Given the description of an element on the screen output the (x, y) to click on. 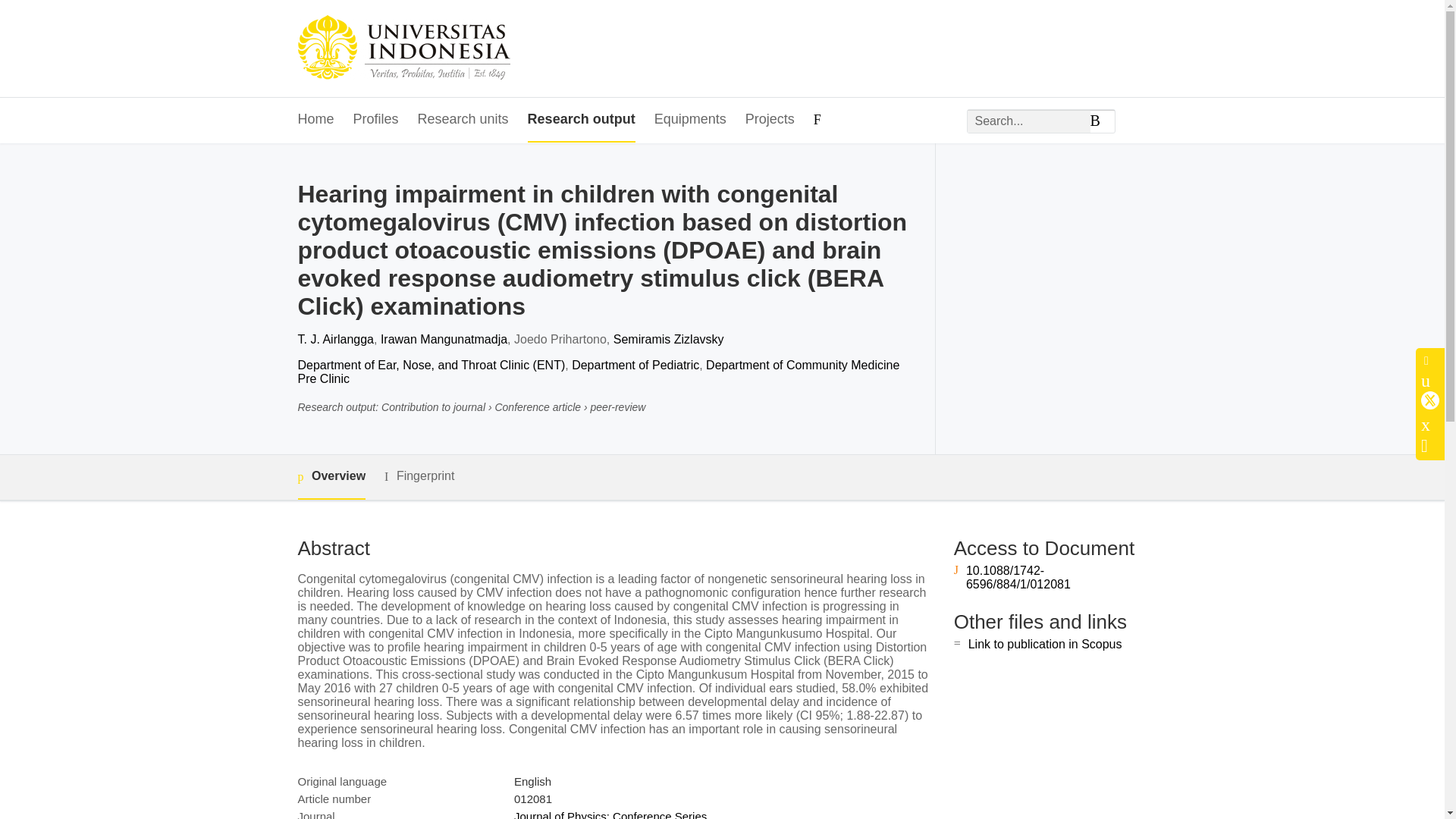
Research units (462, 119)
Journal of Physics: Conference Series (609, 814)
Irawan Mangunatmadja (443, 338)
Overview (331, 477)
Semiramis Zizlavsky (667, 338)
Profiles (375, 119)
Department of Pediatric (635, 364)
Universitas Indonesia Home (403, 48)
Projects (769, 119)
Fingerprint (419, 476)
